Given the description of an element on the screen output the (x, y) to click on. 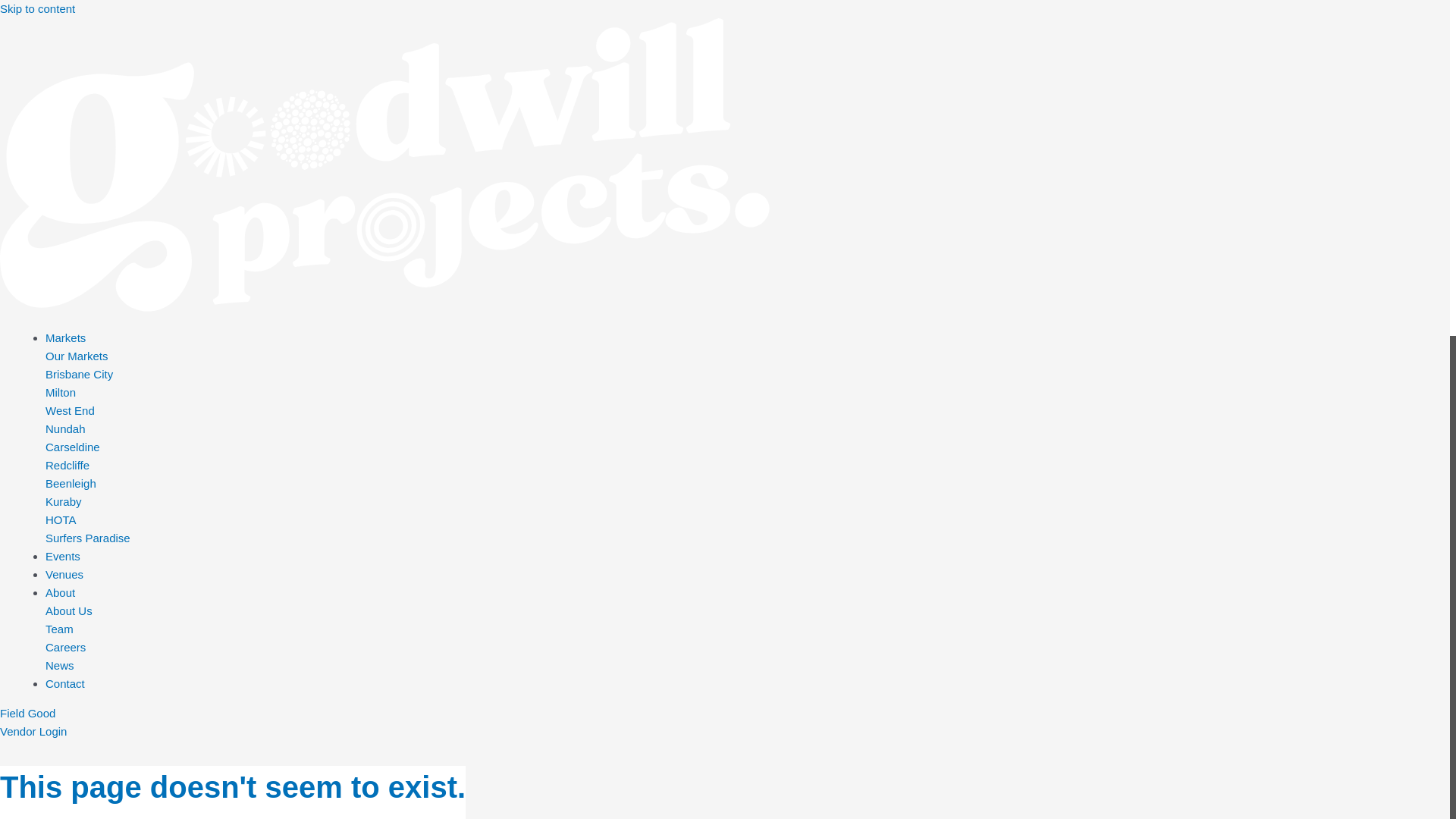
Field Good Element type: text (27, 712)
Events Element type: text (747, 556)
HOTA Element type: text (60, 519)
Redcliffe Element type: text (67, 464)
Kuraby Element type: text (63, 501)
News Element type: text (59, 664)
Vendor Login Element type: text (33, 730)
Careers Element type: text (65, 646)
Milton Element type: text (60, 391)
Surfers Paradise Element type: text (87, 537)
Nundah Element type: text (65, 428)
Team Element type: text (59, 628)
West End Element type: text (69, 410)
Markets Element type: text (747, 338)
Brisbane City Element type: text (78, 373)
Beenleigh Element type: text (70, 482)
About Element type: text (747, 592)
About Us Element type: text (68, 610)
Carseldine Element type: text (72, 446)
Skip to content Element type: text (37, 8)
Our Markets Element type: text (76, 355)
Contact Element type: text (747, 683)
Venues Element type: text (747, 574)
